Given the description of an element on the screen output the (x, y) to click on. 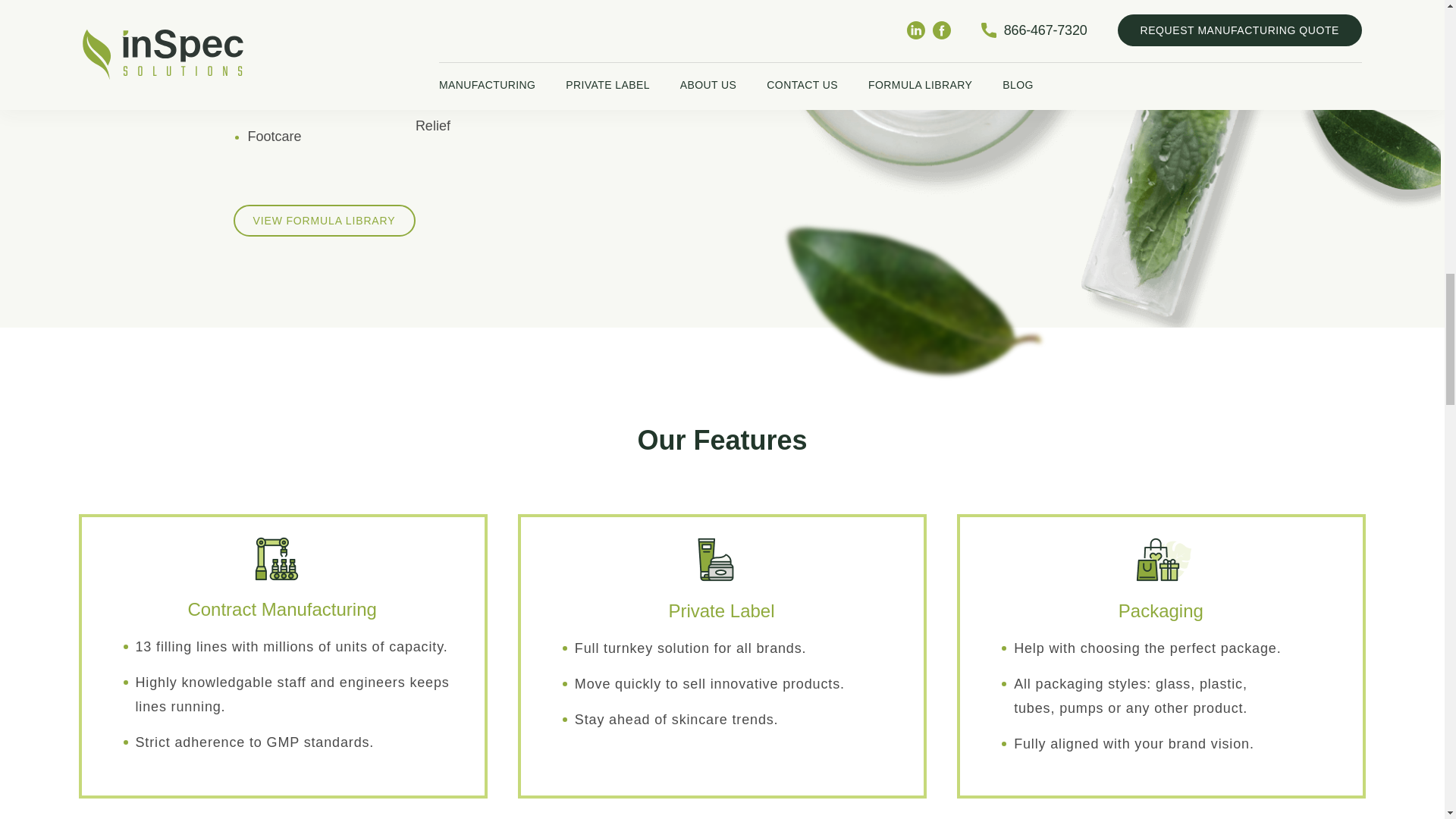
VIEW FORMULA LIBRARY (323, 220)
